Given the description of an element on the screen output the (x, y) to click on. 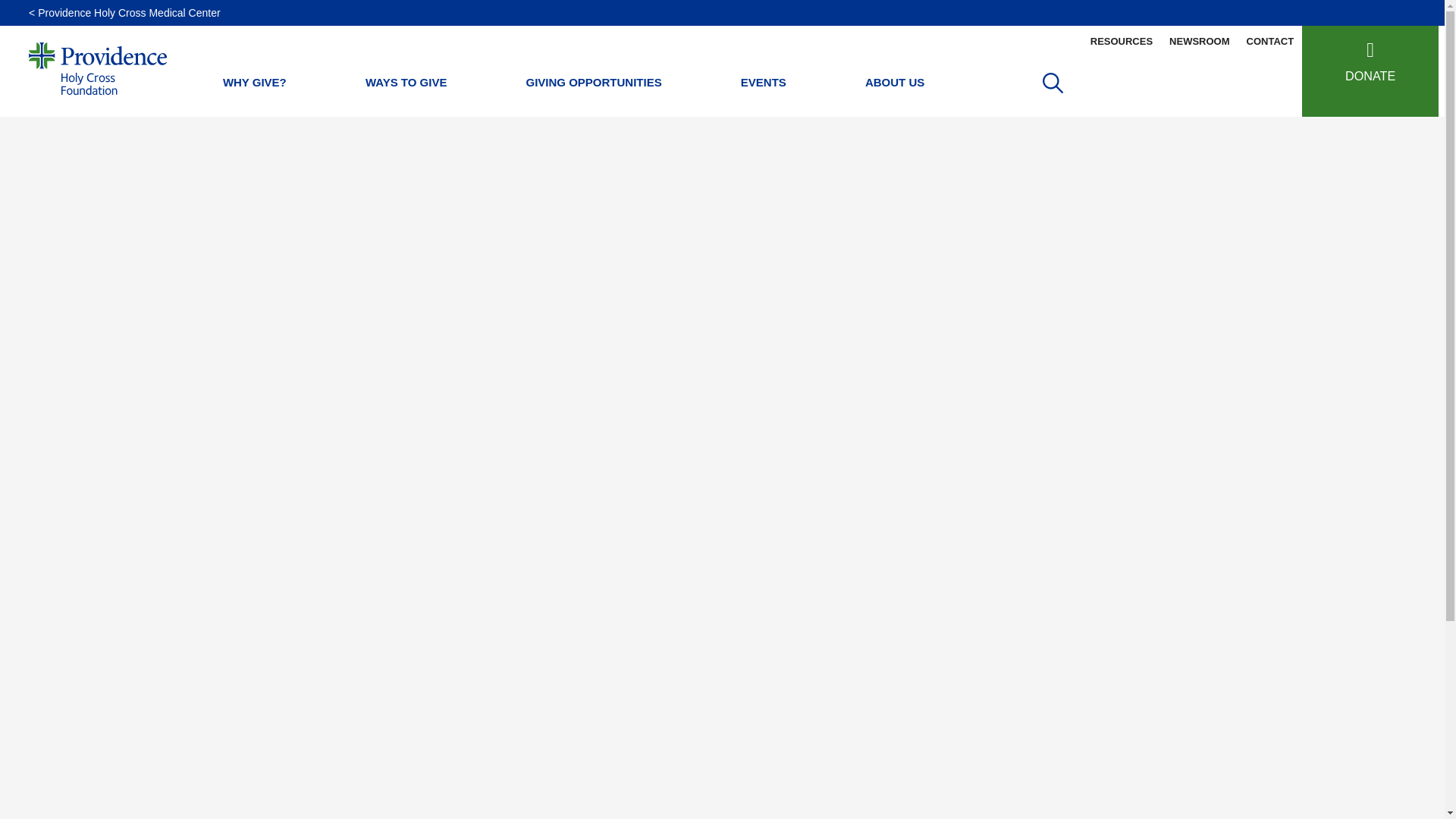
ABOUT US (894, 82)
RESOURCES (1120, 41)
WHY GIVE? (254, 82)
WAYS TO GIVE (405, 82)
NEWSROOM (1198, 41)
EVENTS (763, 82)
CONTACT (1271, 41)
GIVING OPPORTUNITIES (593, 82)
